Given the description of an element on the screen output the (x, y) to click on. 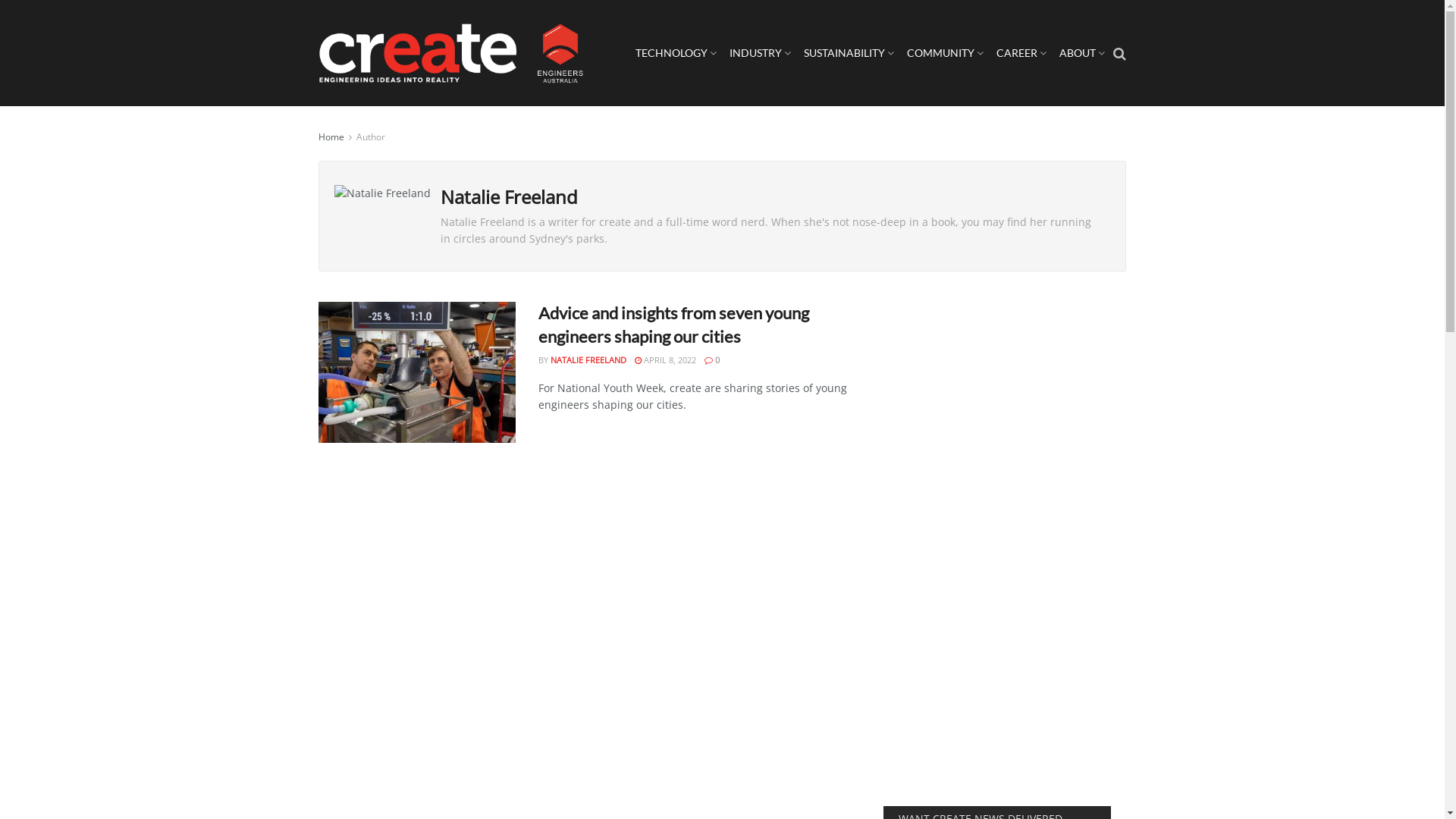
TECHNOLOGY Element type: text (675, 52)
COMMUNITY Element type: text (944, 52)
Author Element type: text (370, 136)
3rd party ad content Element type: hover (996, 547)
Home Element type: text (331, 136)
NATALIE FREELAND Element type: text (588, 359)
SUSTAINABILITY Element type: text (848, 52)
INDUSTRY Element type: text (759, 52)
CAREER Element type: text (1020, 52)
ABOUT Element type: text (1081, 52)
APRIL 8, 2022 Element type: text (665, 359)
0 Element type: text (711, 359)
